Given the description of an element on the screen output the (x, y) to click on. 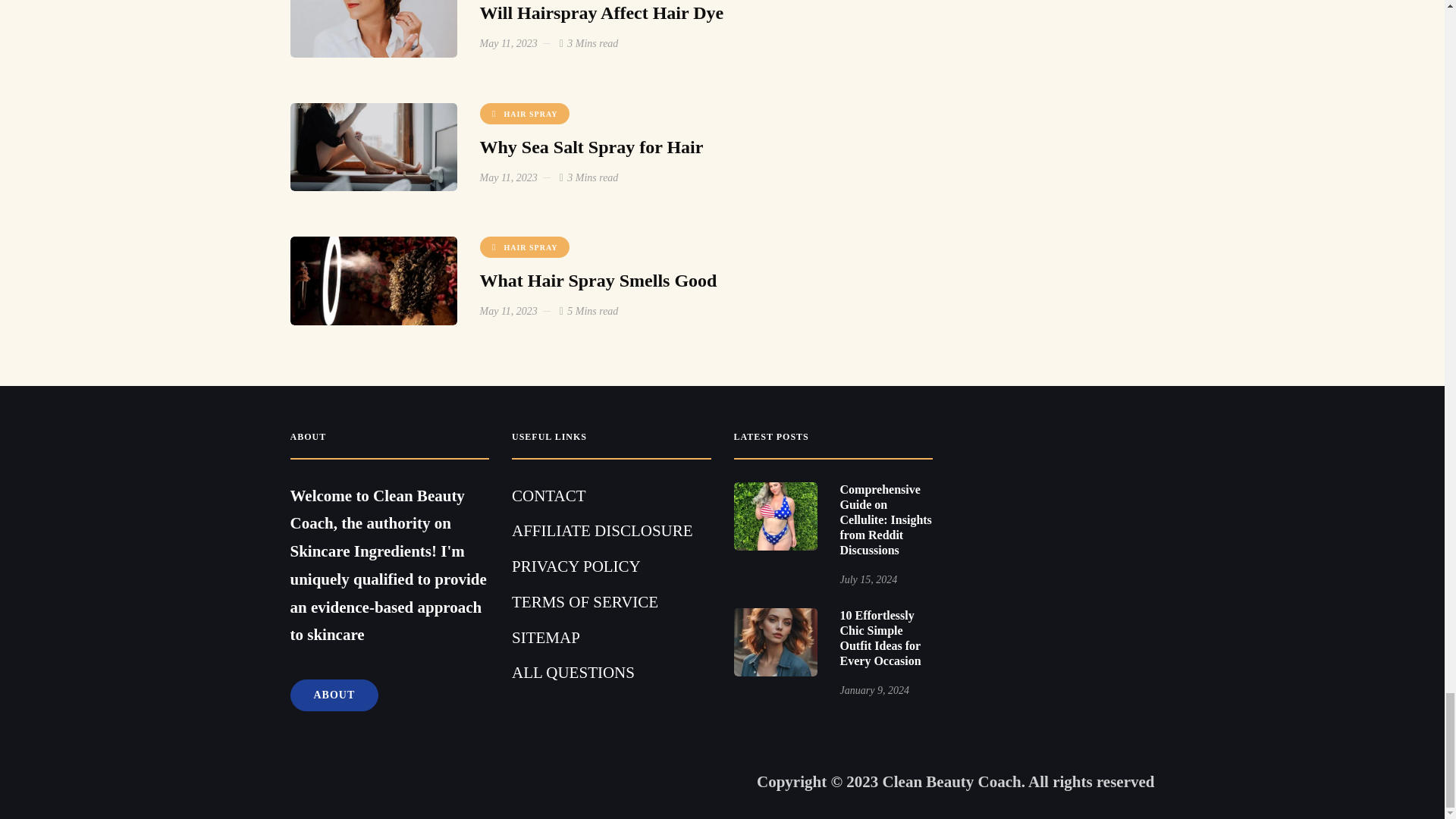
ALL QUESTIONS (573, 672)
SITEMAP (545, 637)
ABOUT (333, 695)
PRIVACY POLICY (576, 566)
Why Sea Salt Spray for Hair (591, 147)
HAIR SPRAY (524, 246)
AFFILIATE DISCLOSURE (602, 530)
TERMS OF SERVICE (585, 601)
HAIR SPRAY (524, 113)
CONTACT (548, 495)
Will Hairspray Affect Hair Dye (601, 12)
What Hair Spray Smells Good (597, 280)
